Given the description of an element on the screen output the (x, y) to click on. 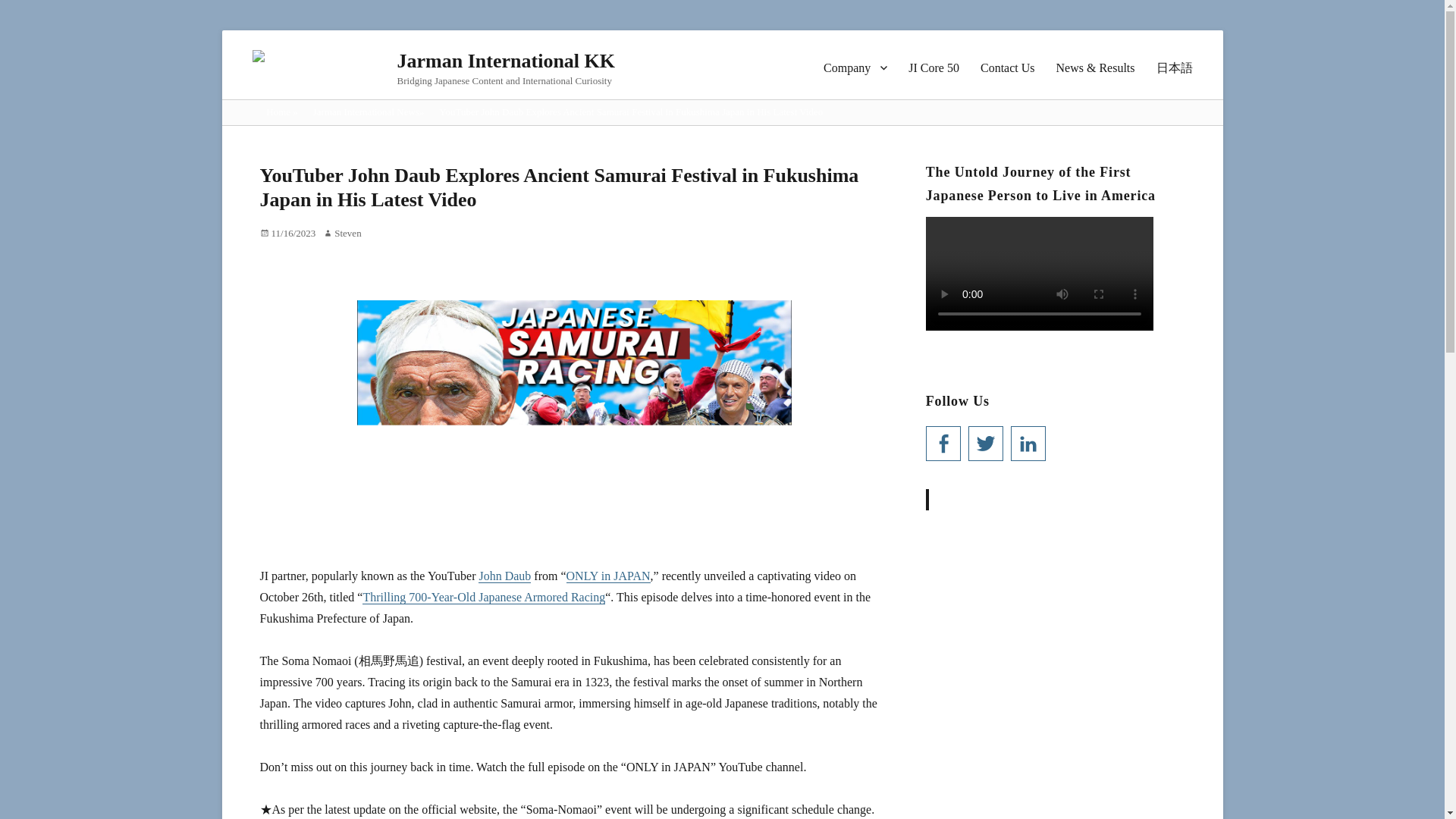
LinkedIn (1027, 443)
Facebook (943, 443)
Contact Us (1007, 67)
LinkedIn (1027, 443)
Jarman International KK (505, 60)
Jarman International KK (1020, 498)
JI Core 50 (933, 67)
ONLY in JAPAN (608, 575)
Facebook (943, 443)
